Given the description of an element on the screen output the (x, y) to click on. 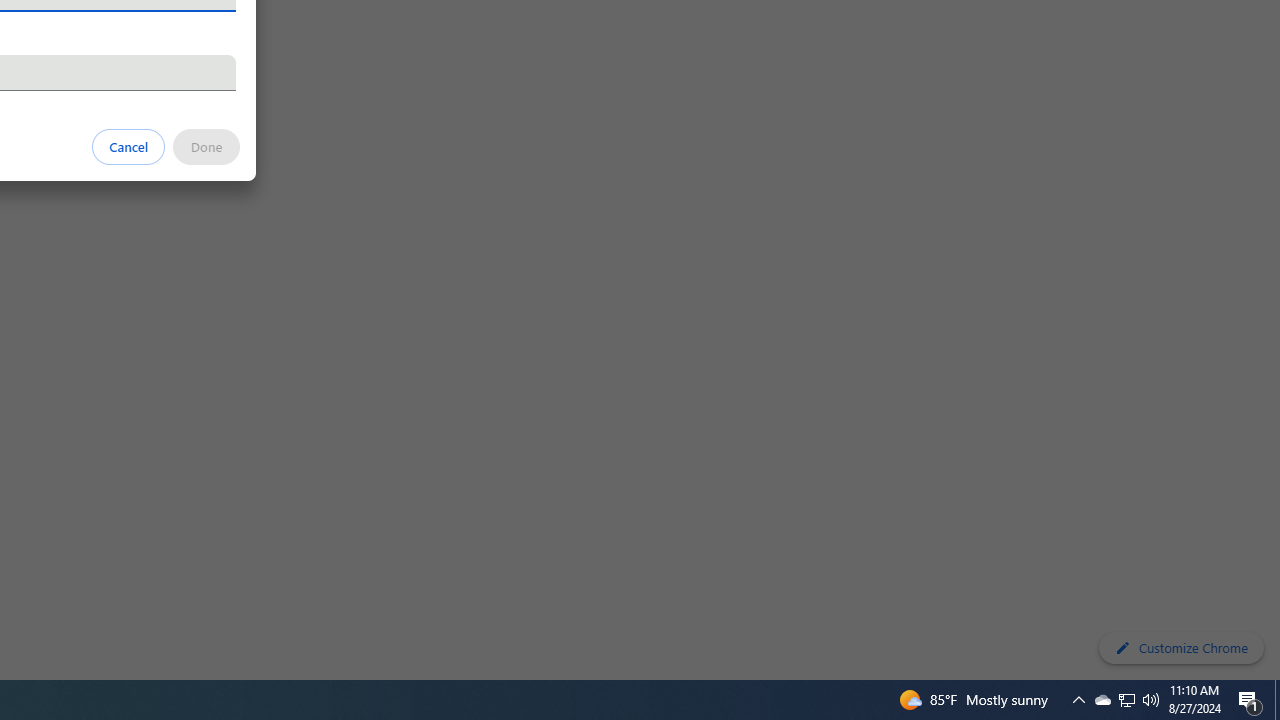
Cancel (129, 146)
Done (206, 146)
